Given the description of an element on the screen output the (x, y) to click on. 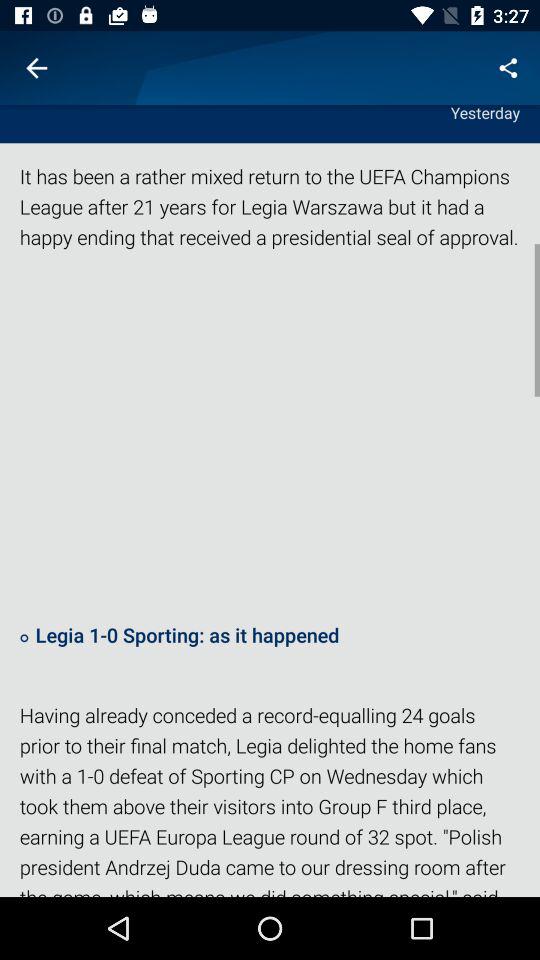
scroll until it has been icon (269, 215)
